Given the description of an element on the screen output the (x, y) to click on. 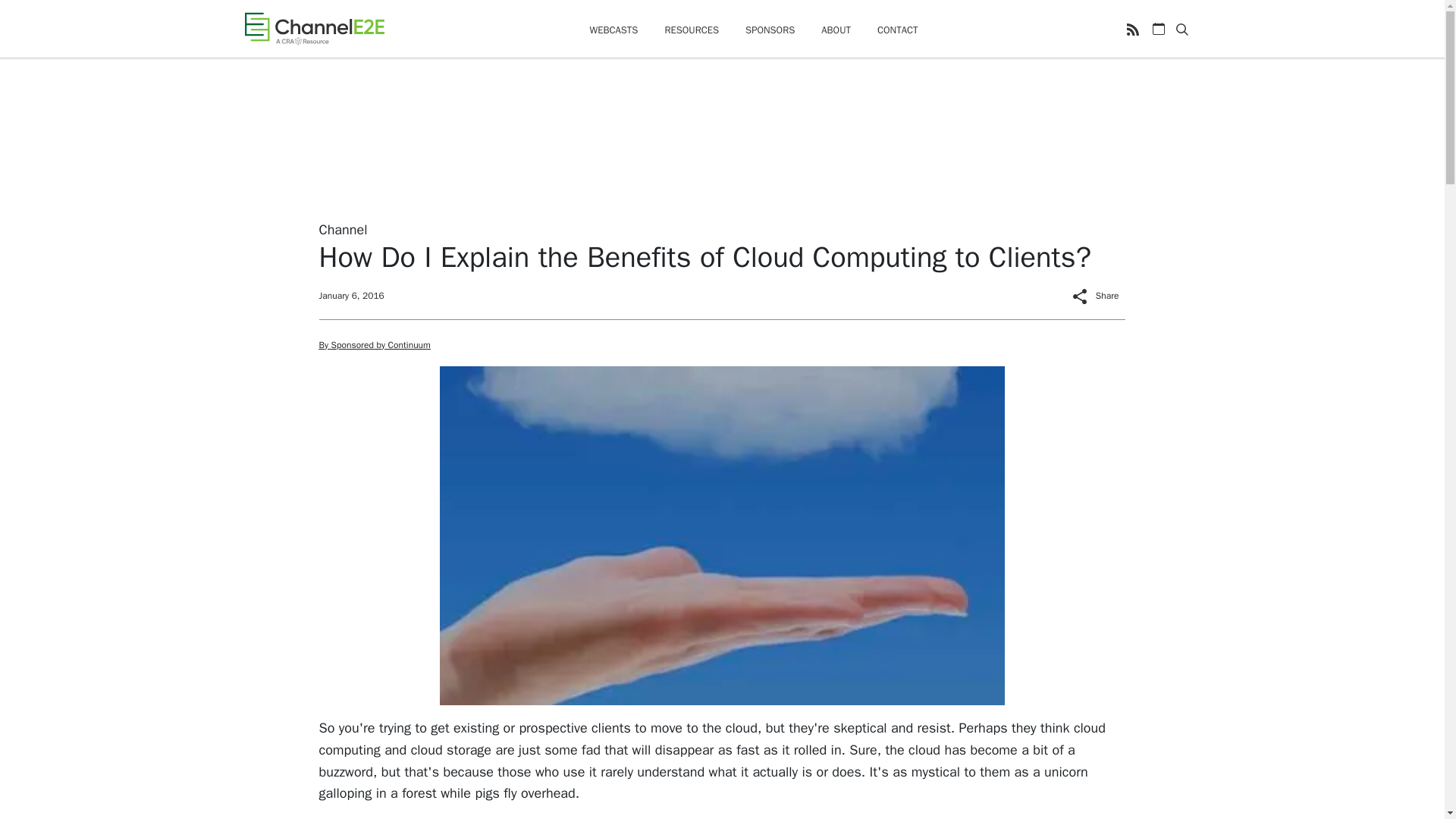
RESOURCES (691, 30)
ChannelE2E (314, 27)
SPONSORS (769, 30)
By Sponsored by Continuum (373, 345)
ABOUT (835, 30)
View Cybersecurity Conference Calendar (1158, 28)
CONTACT (897, 30)
Channel (342, 229)
WEBCASTS (613, 30)
